Given the description of an element on the screen output the (x, y) to click on. 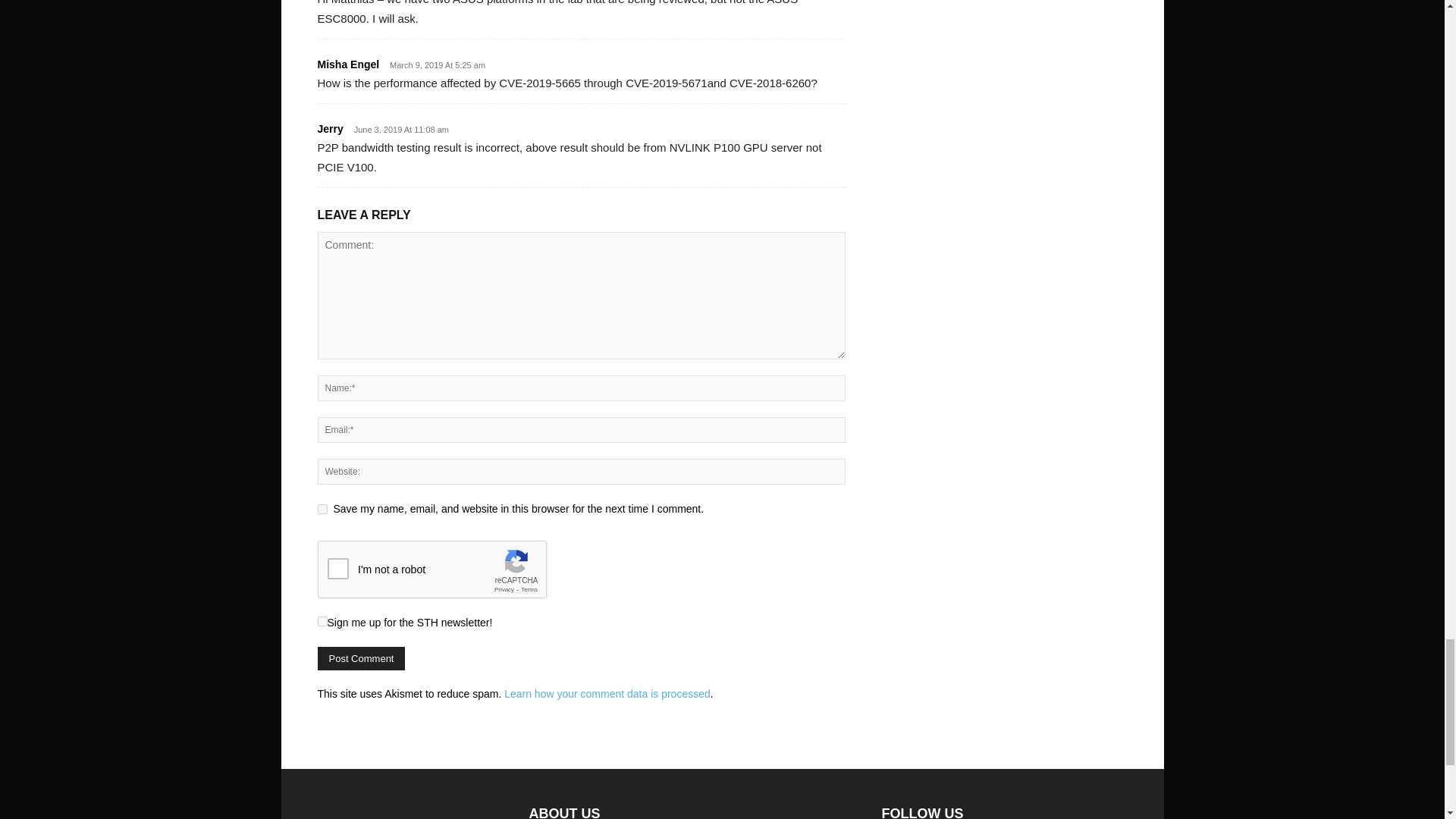
yes (321, 509)
1 (321, 621)
Post Comment (360, 658)
